Given the description of an element on the screen output the (x, y) to click on. 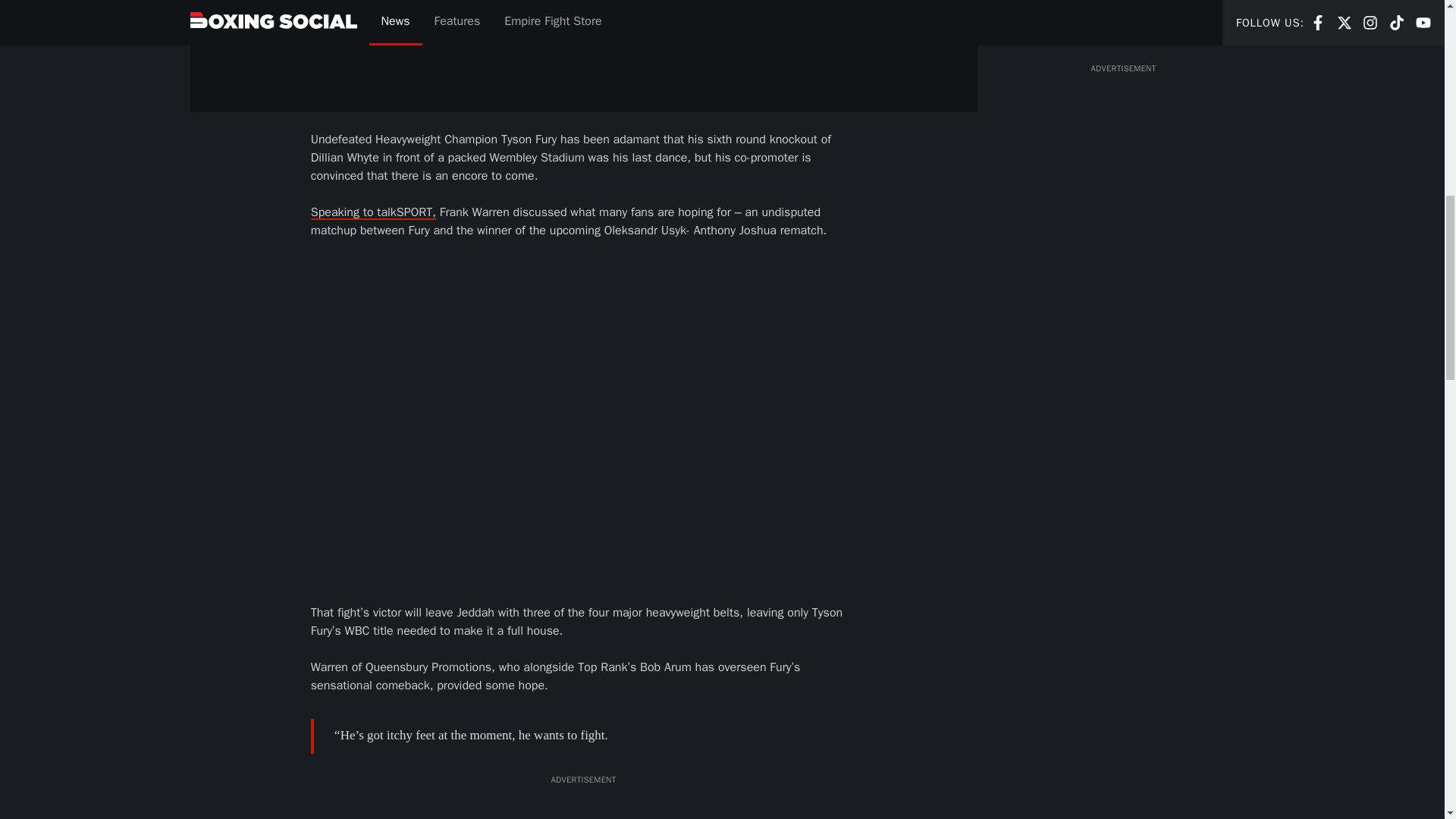
Speaking to talkSPORT, (373, 212)
